Given the description of an element on the screen output the (x, y) to click on. 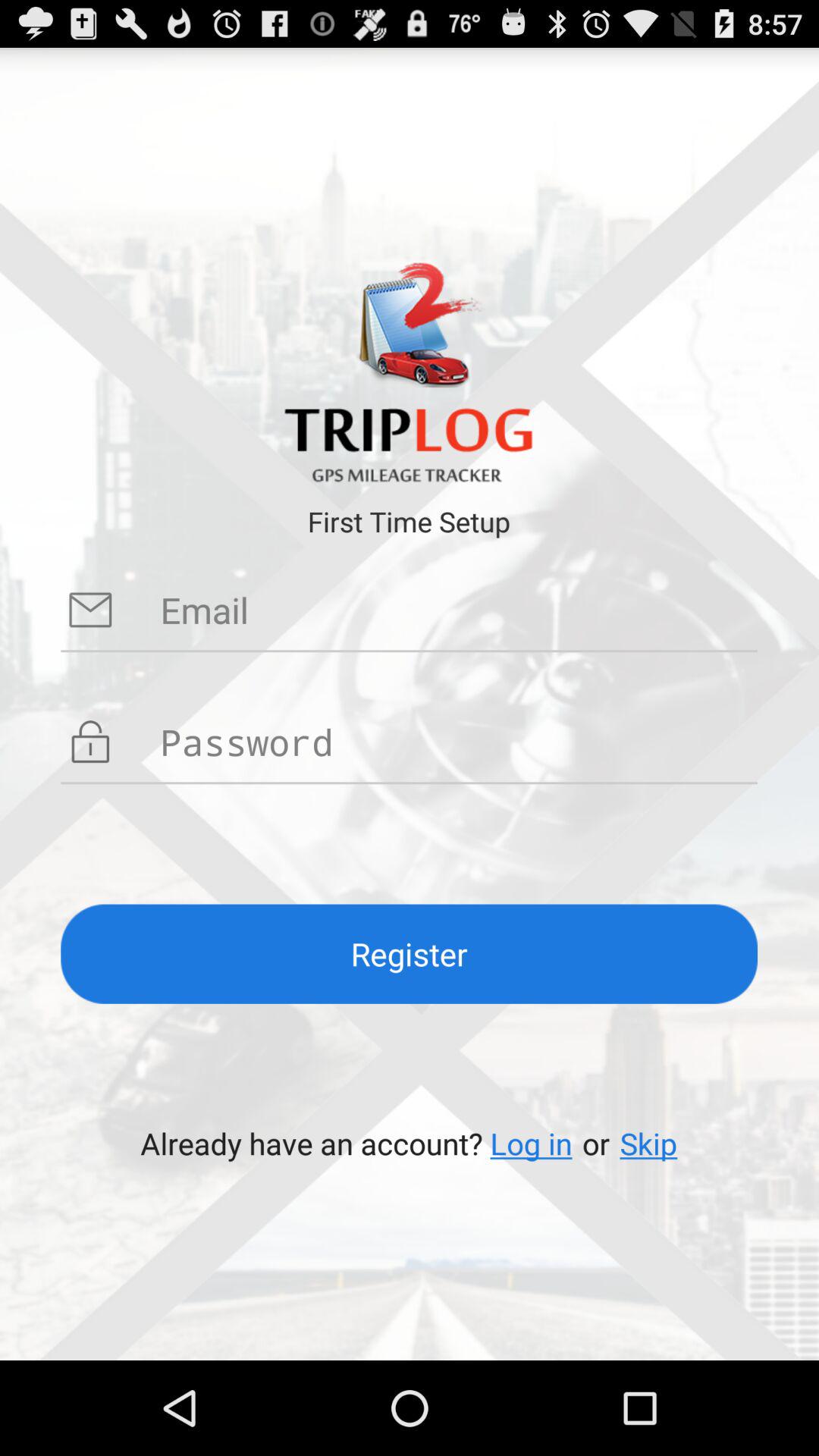
enter your password (458, 741)
